Given the description of an element on the screen output the (x, y) to click on. 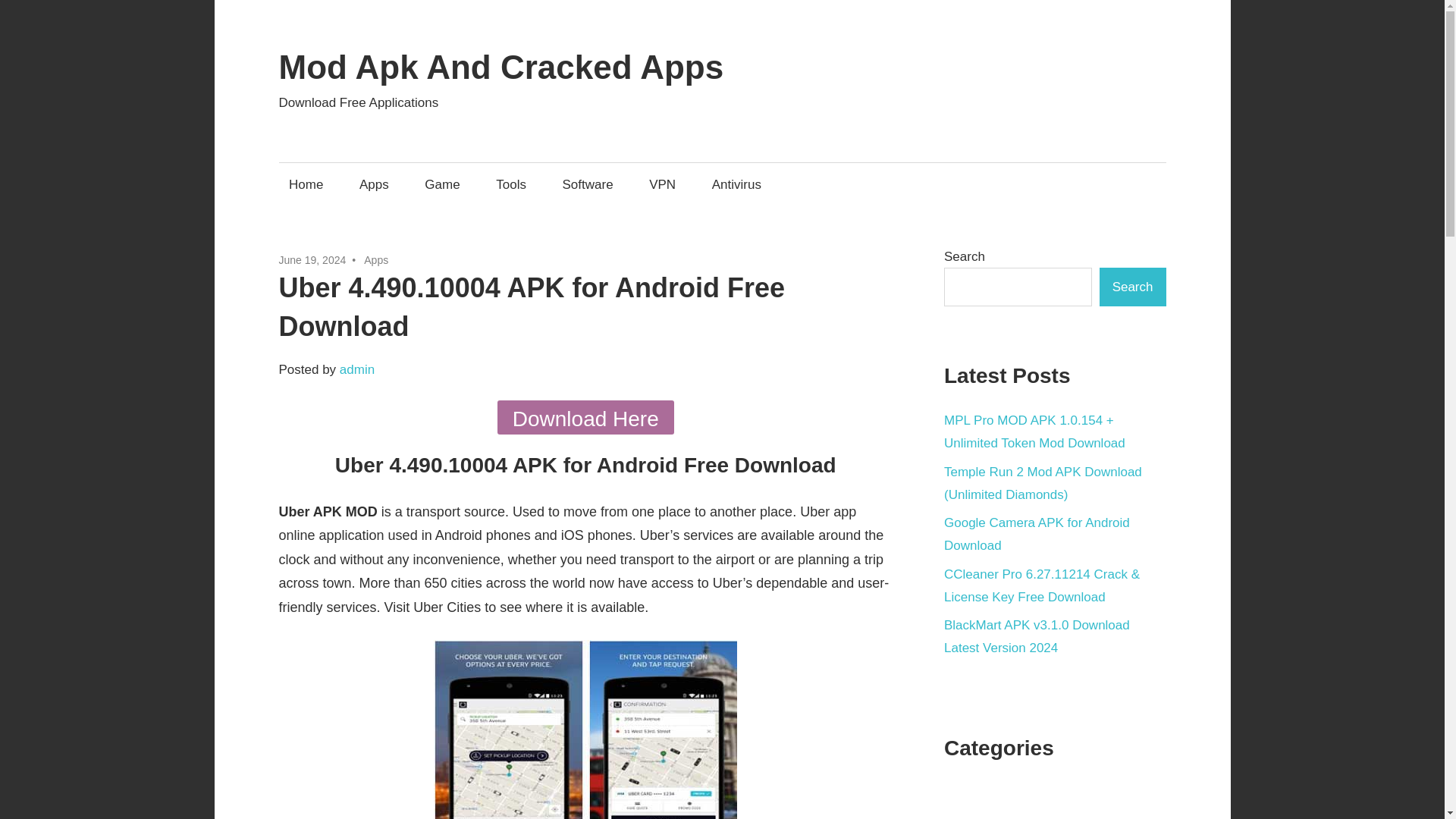
Download Here (585, 417)
June 19, 2024 (312, 259)
Home (306, 184)
Software (587, 184)
Tools (511, 184)
Mod Apk And Cracked Apps (501, 66)
admin (356, 369)
Apps (373, 184)
VPN (662, 184)
Apps (376, 259)
